Given the description of an element on the screen output the (x, y) to click on. 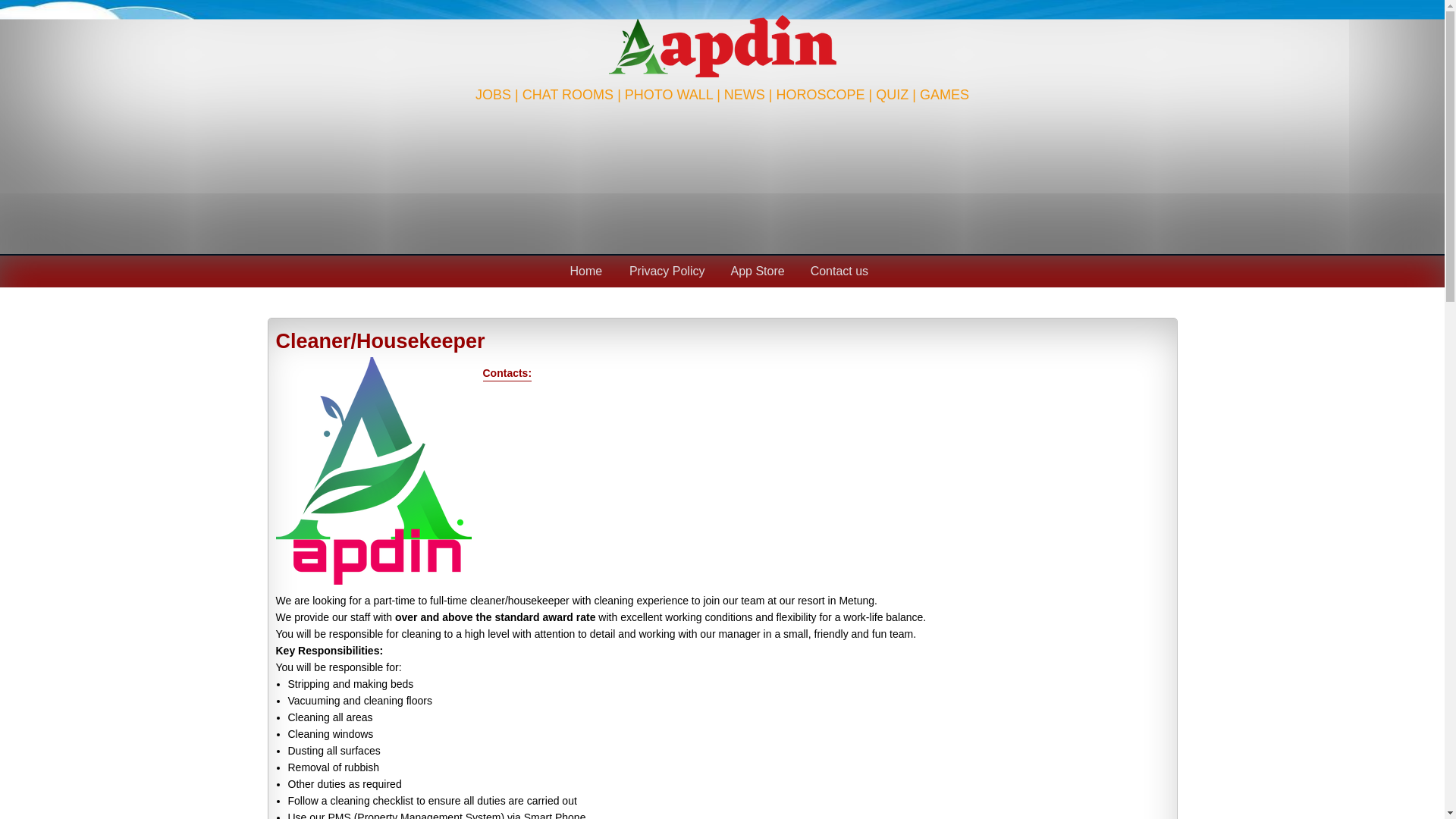
Home (589, 271)
Privacy Policy (671, 271)
App Store (760, 271)
Contact us (843, 271)
